Given the description of an element on the screen output the (x, y) to click on. 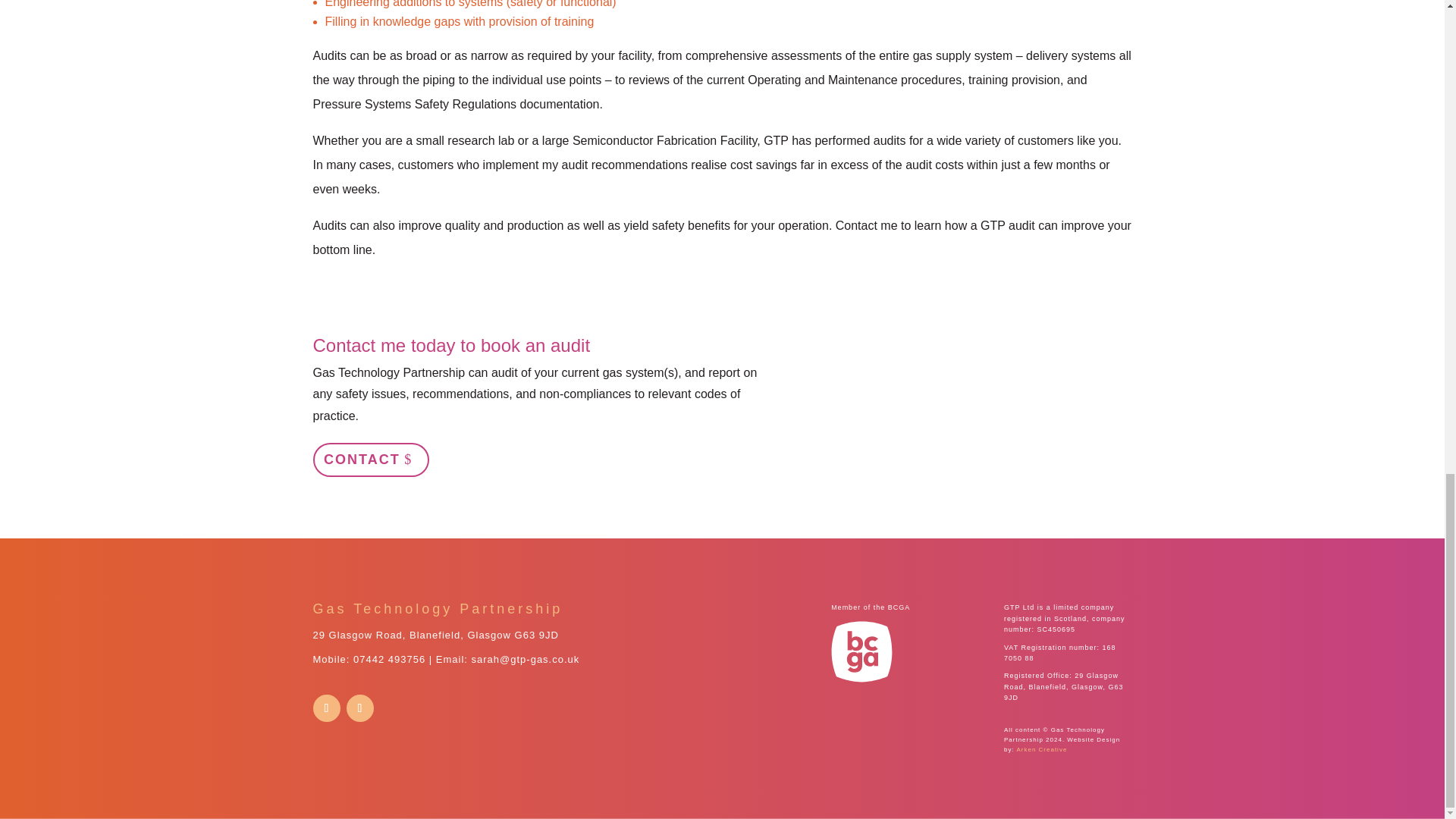
CONTACT (370, 459)
Arken Creative (1040, 749)
Follow on Instagram (359, 707)
Visit the BCGA website. (861, 651)
07442 493756 (389, 659)
Speak to Sarah at GTP (389, 659)
Follow on LinkedIn (326, 707)
Email Sarah at GTP (525, 659)
